Given the description of an element on the screen output the (x, y) to click on. 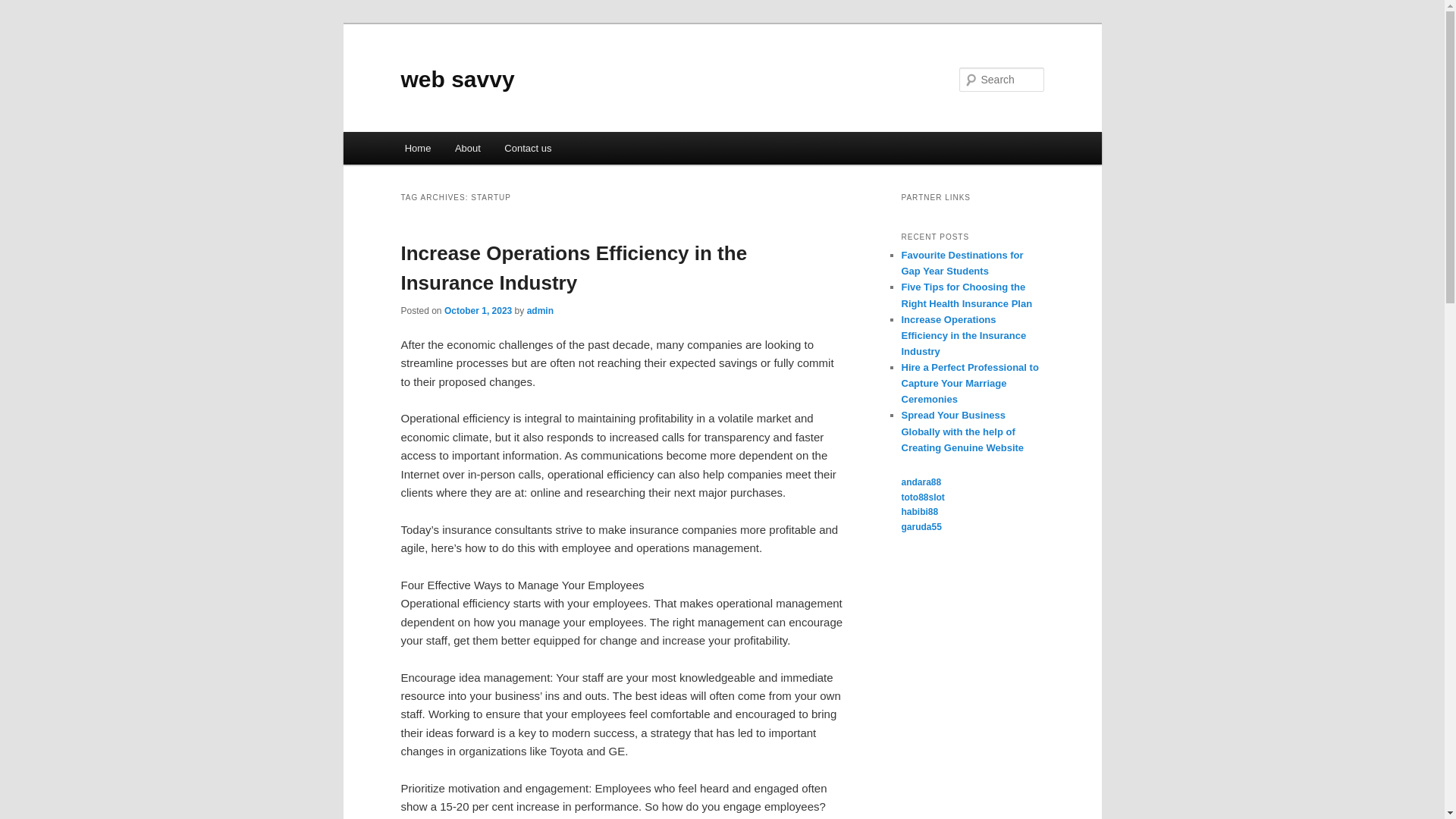
Home (417, 147)
6:44 pm (478, 310)
About (467, 147)
October 1, 2023 (478, 310)
habibi88 (919, 511)
About (467, 147)
Home (417, 147)
Increase Operations Efficiency in the Insurance Industry (963, 335)
